Given the description of an element on the screen output the (x, y) to click on. 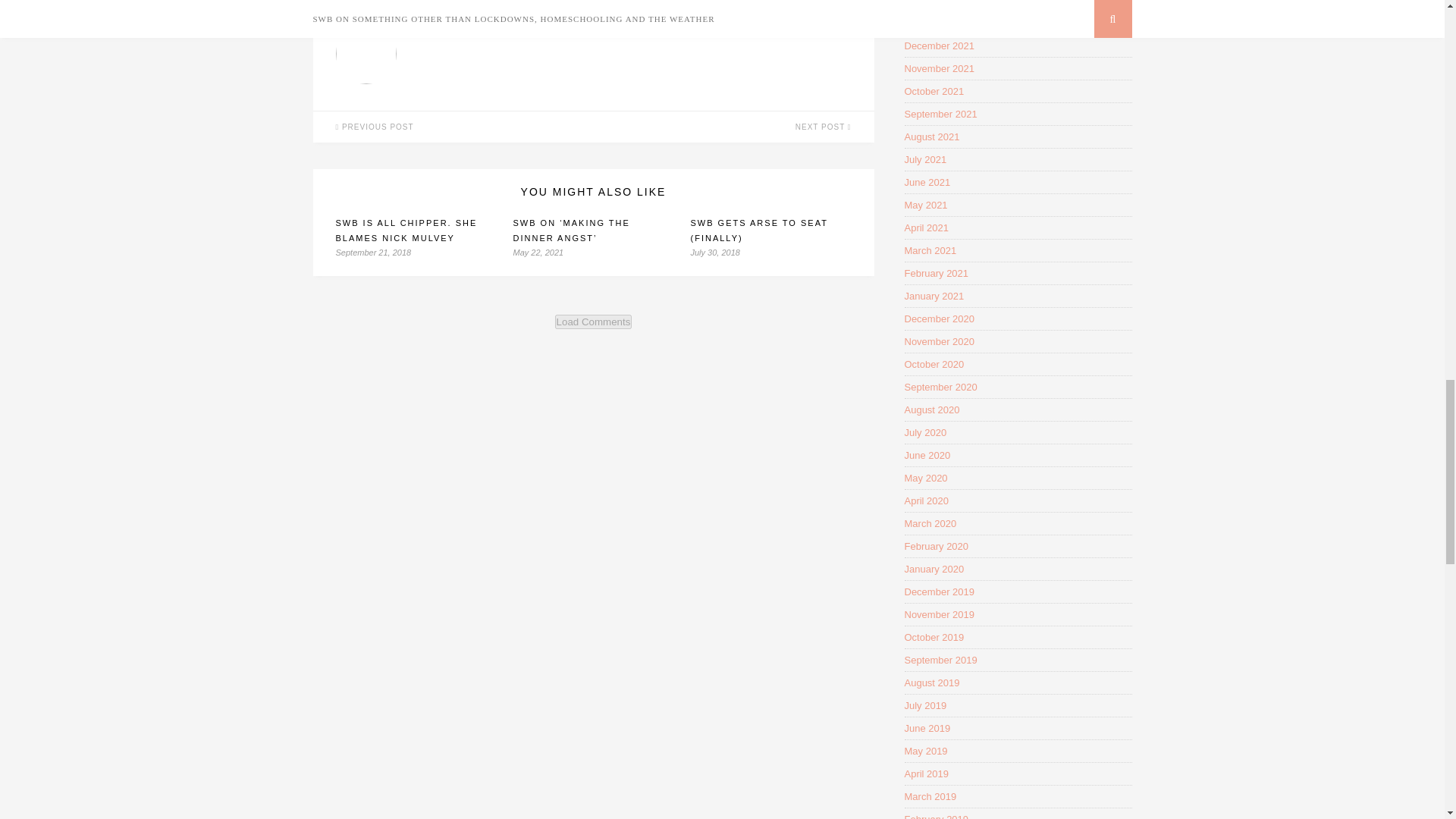
Load Comments (592, 321)
Posts by sourweebastard (634, 29)
SOURWEEBASTARD (634, 29)
PREVIOUS POST (452, 126)
SWB IS ALL CHIPPER. SHE BLAMES NICK MULVEY (405, 230)
NEXT POST (732, 126)
